Given the description of an element on the screen output the (x, y) to click on. 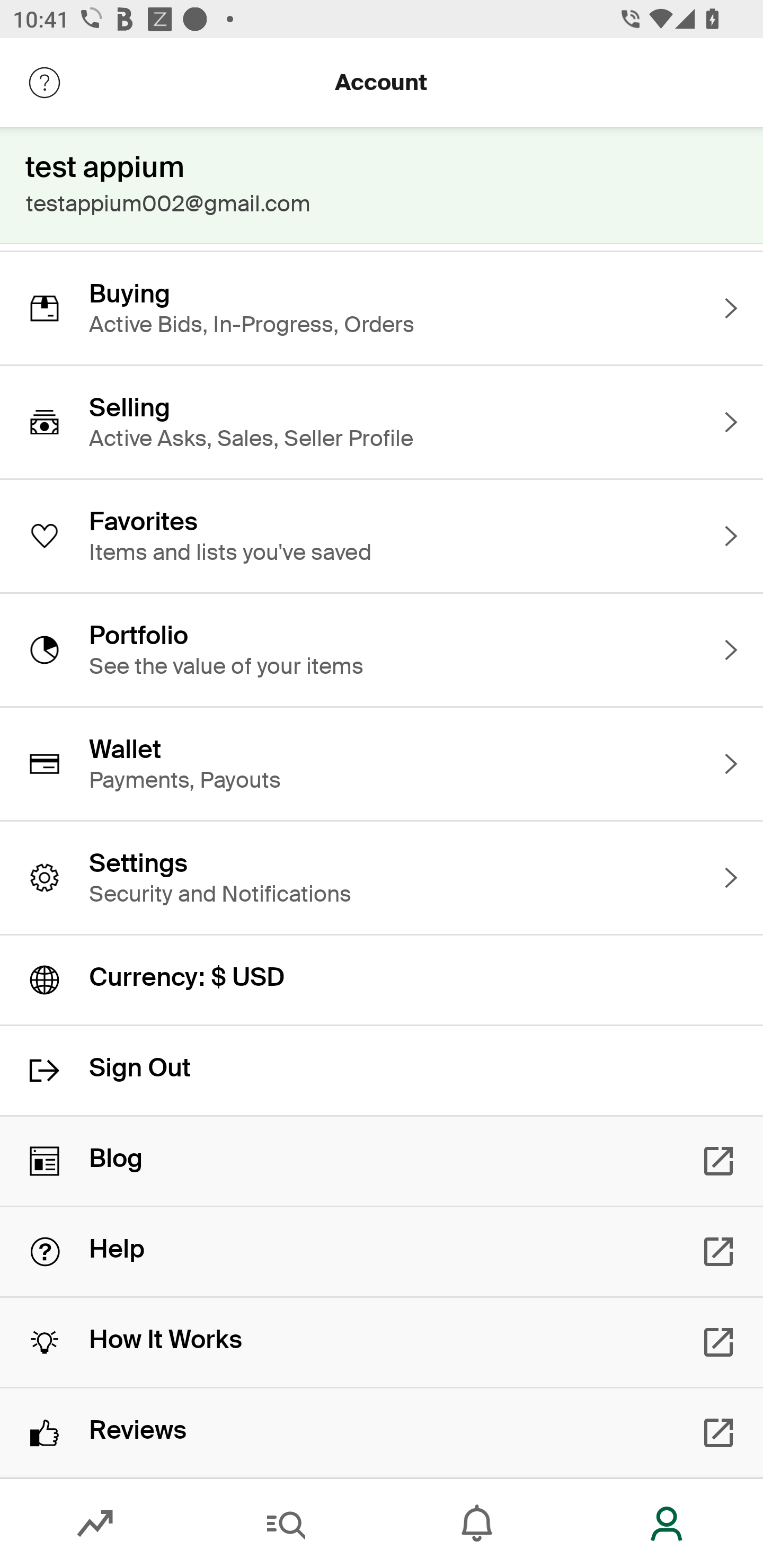
Buying Active Bids, In-Progress, Orders (381, 307)
Selling Active Asks, Sales, Seller Profile (381, 421)
Favorites Items and lists you've saved (381, 535)
Portfolio See the value of your items (381, 649)
Wallet Payments, Payouts (381, 763)
Settings Security and Notifications (381, 877)
Currency: $ USD (381, 979)
Sign Out (381, 1069)
Blog (381, 1160)
Help (381, 1251)
How It Works (381, 1342)
Reviews (381, 1432)
Market (95, 1523)
Search (285, 1523)
Inbox (476, 1523)
